Given the description of an element on the screen output the (x, y) to click on. 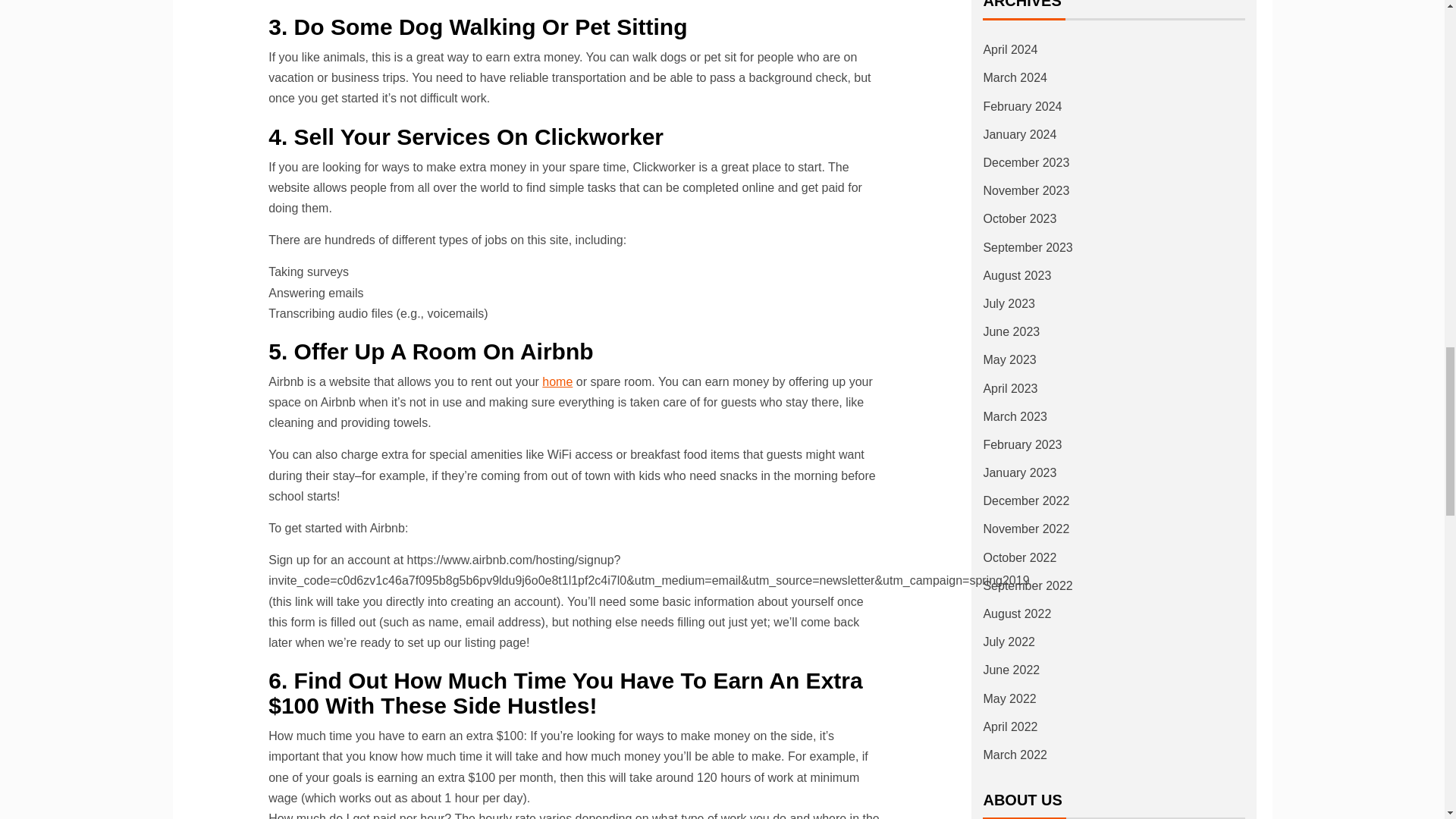
home (556, 381)
